Given the description of an element on the screen output the (x, y) to click on. 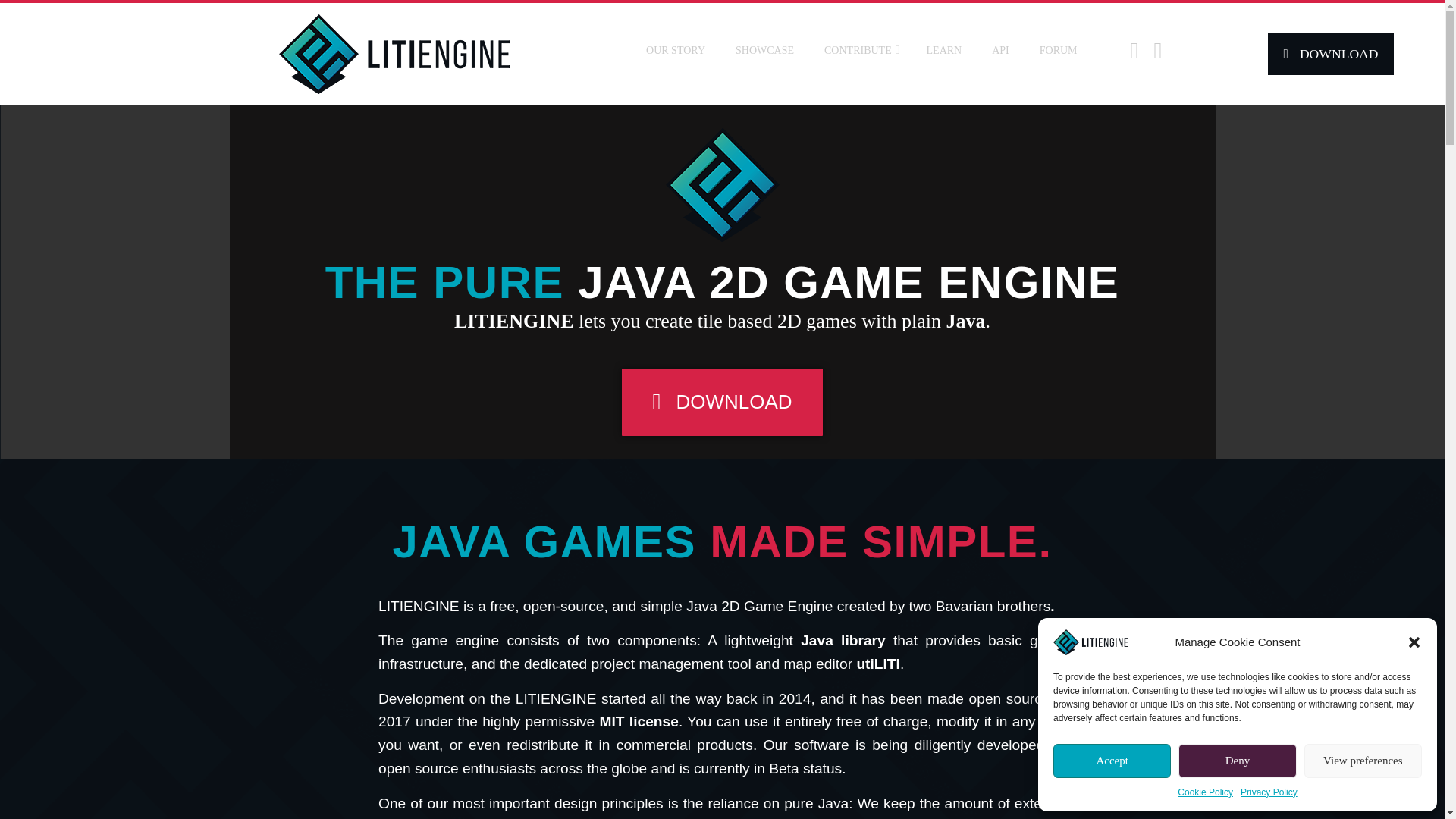
Cookie Policy (1205, 792)
API (999, 49)
Privacy Policy (1268, 792)
OUR STORY (675, 49)
LEARN (944, 49)
CONTRIBUTE (859, 49)
DOWNLOAD (1330, 54)
View preferences (1363, 760)
FORUM (1058, 49)
SHOWCASE (764, 49)
Accept (1111, 760)
DOWNLOAD (721, 401)
Deny (1236, 760)
